Given the description of an element on the screen output the (x, y) to click on. 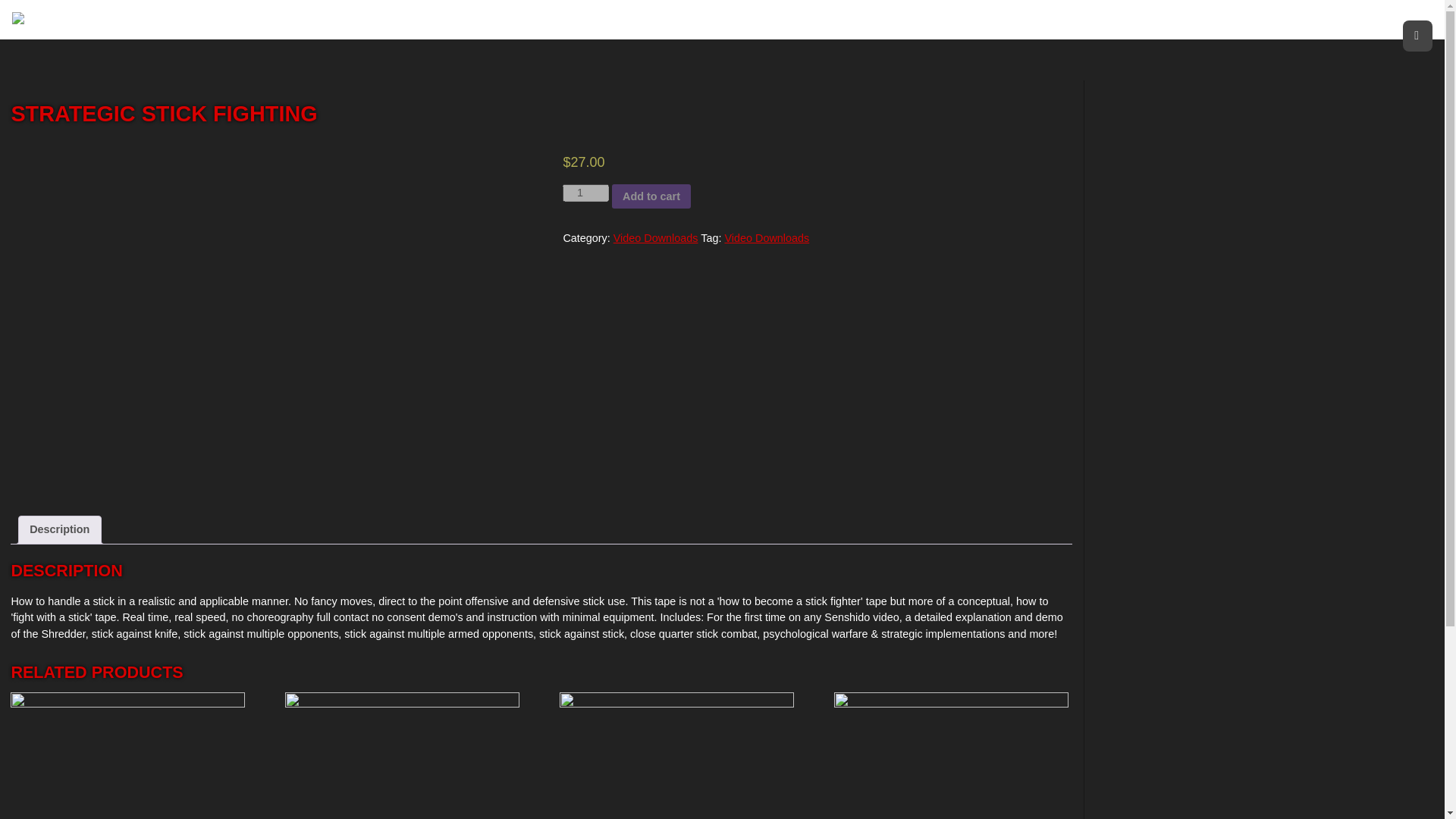
Description (58, 529)
Video Downloads (766, 237)
Video Downloads (655, 237)
1 (585, 192)
Add to cart (651, 196)
